Given the description of an element on the screen output the (x, y) to click on. 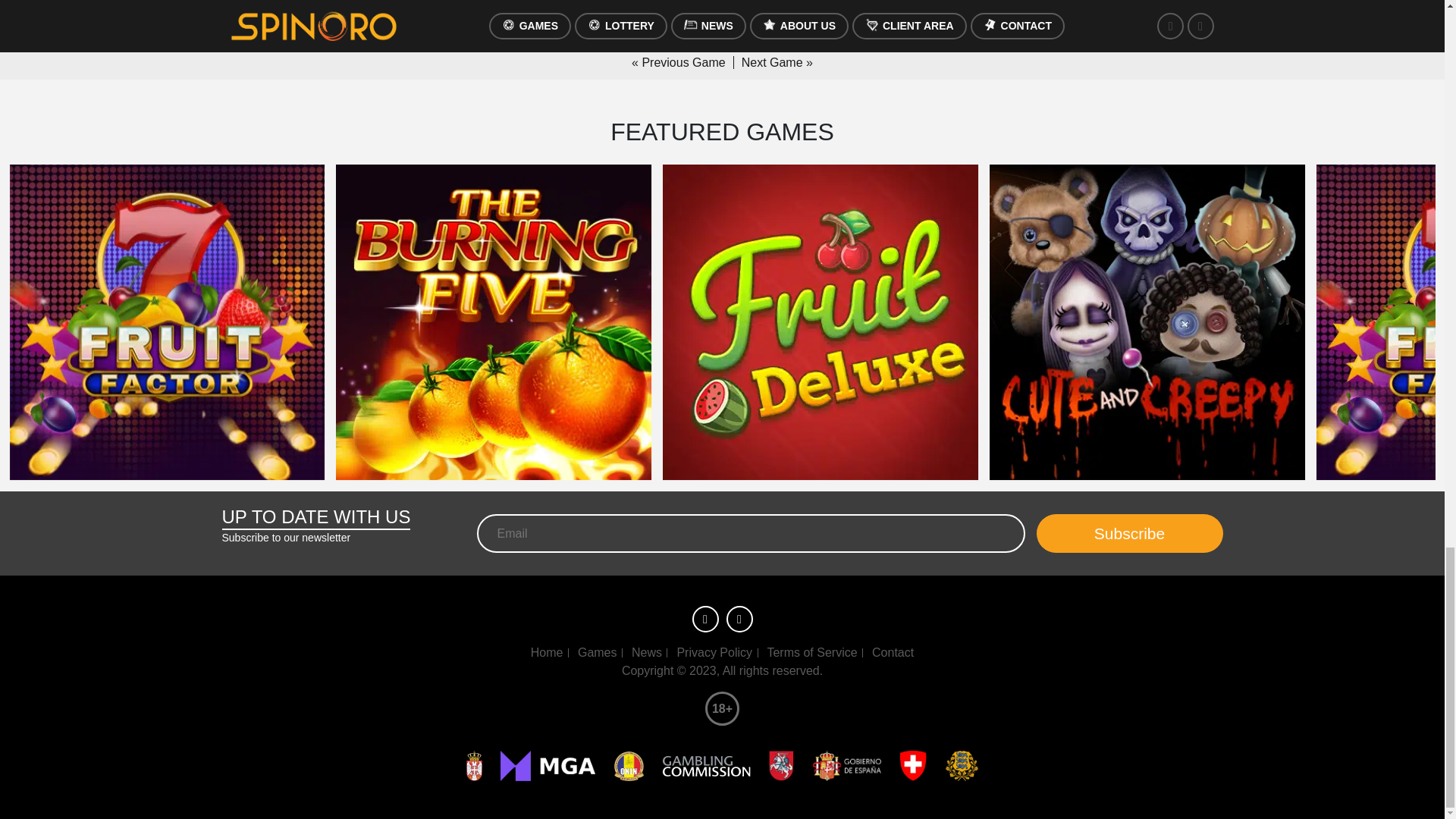
Previous Game (687, 62)
Next Game (768, 62)
Subscribe (1129, 533)
